Given the description of an element on the screen output the (x, y) to click on. 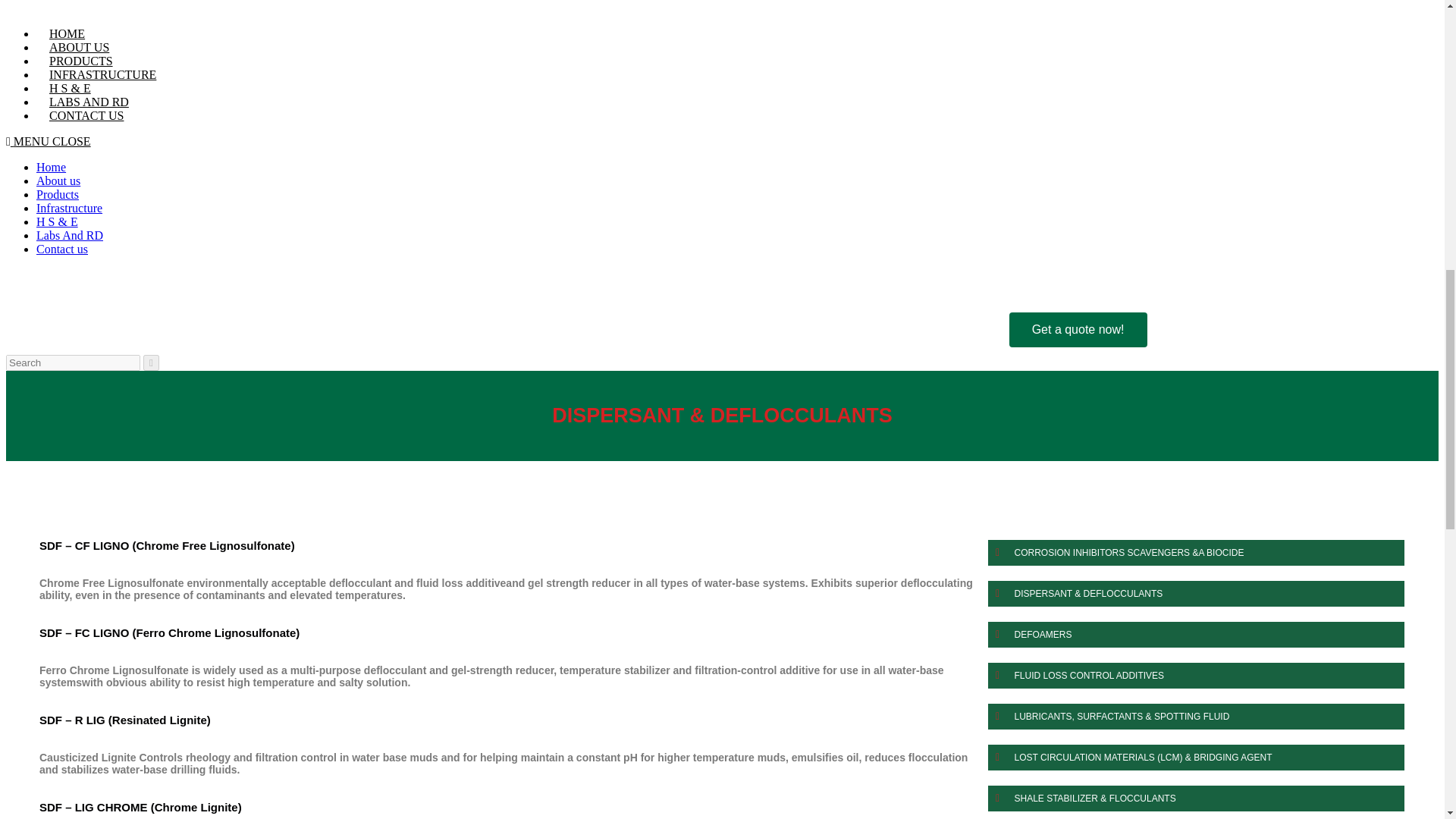
MENU CLOSE (47, 141)
INFRASTRUCTURE (102, 74)
ABOUT US (79, 47)
PRODUCTS (80, 60)
CONTACT US (86, 115)
About us (58, 180)
Contact us (61, 248)
Get a quote now! (1078, 329)
DEFOAMERS (1200, 634)
LABS AND RD (88, 101)
